Given the description of an element on the screen output the (x, y) to click on. 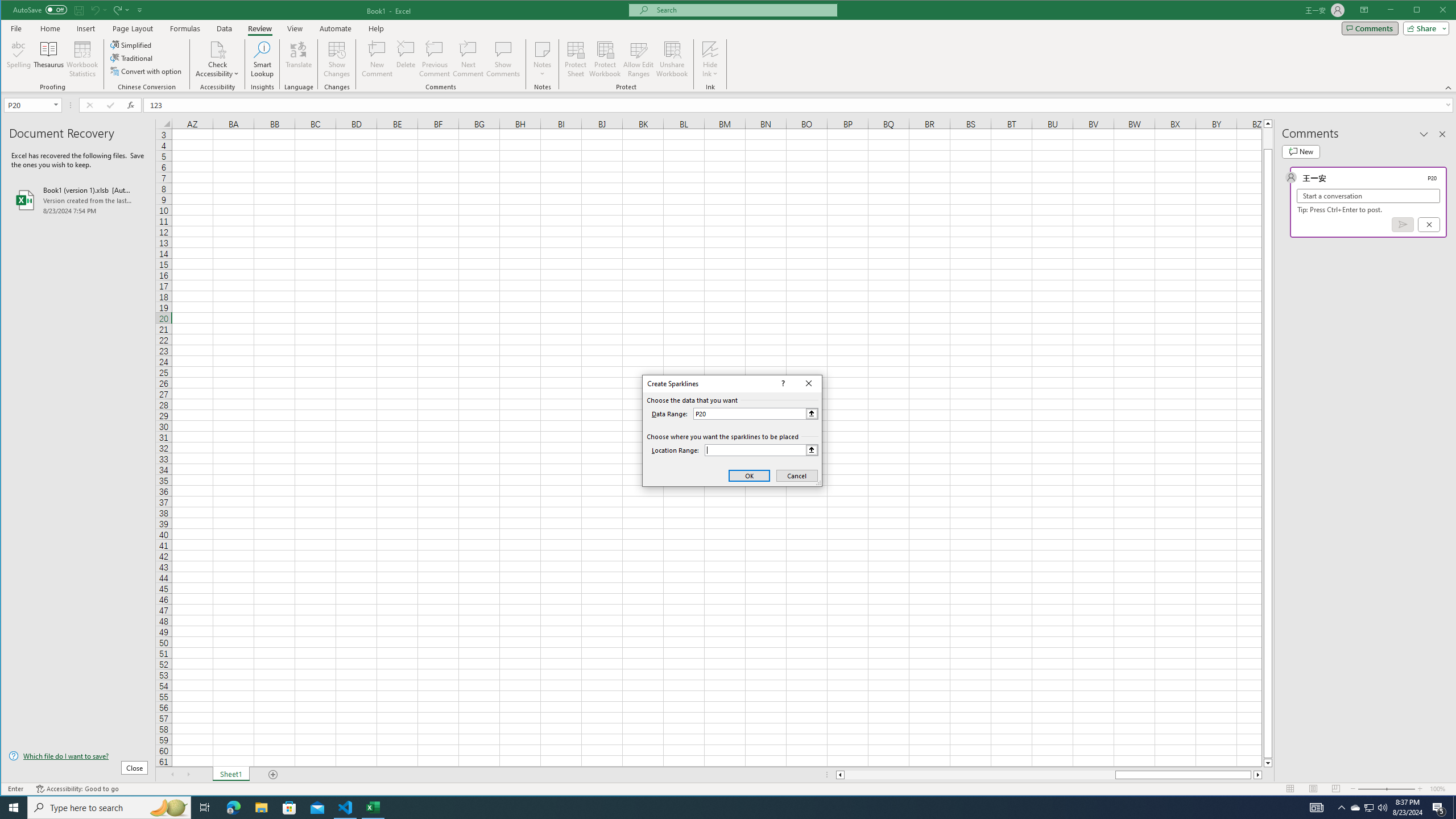
Smart Lookup (261, 59)
Microsoft Store (289, 807)
Page left (979, 774)
Previous Comment (434, 59)
Delete (405, 59)
Excel - 1 running window (373, 807)
OK (749, 475)
